Given the description of an element on the screen output the (x, y) to click on. 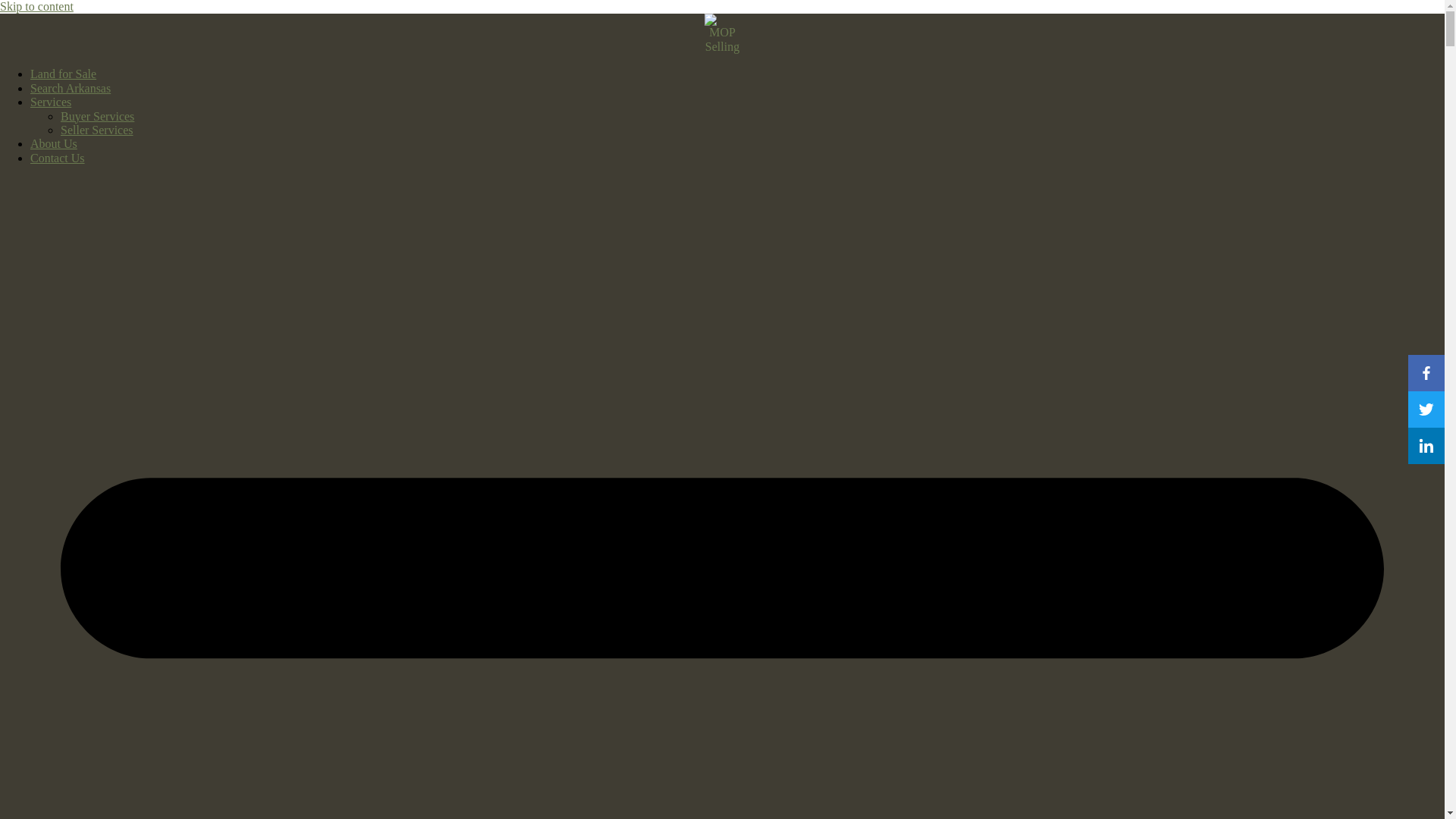
Contact Us (57, 157)
Buyer Services (97, 115)
About Us (53, 143)
Skip to content (37, 6)
Services (50, 101)
Land for Sale (63, 73)
Search Arkansas (70, 88)
Seller Services (97, 129)
